Given the description of an element on the screen output the (x, y) to click on. 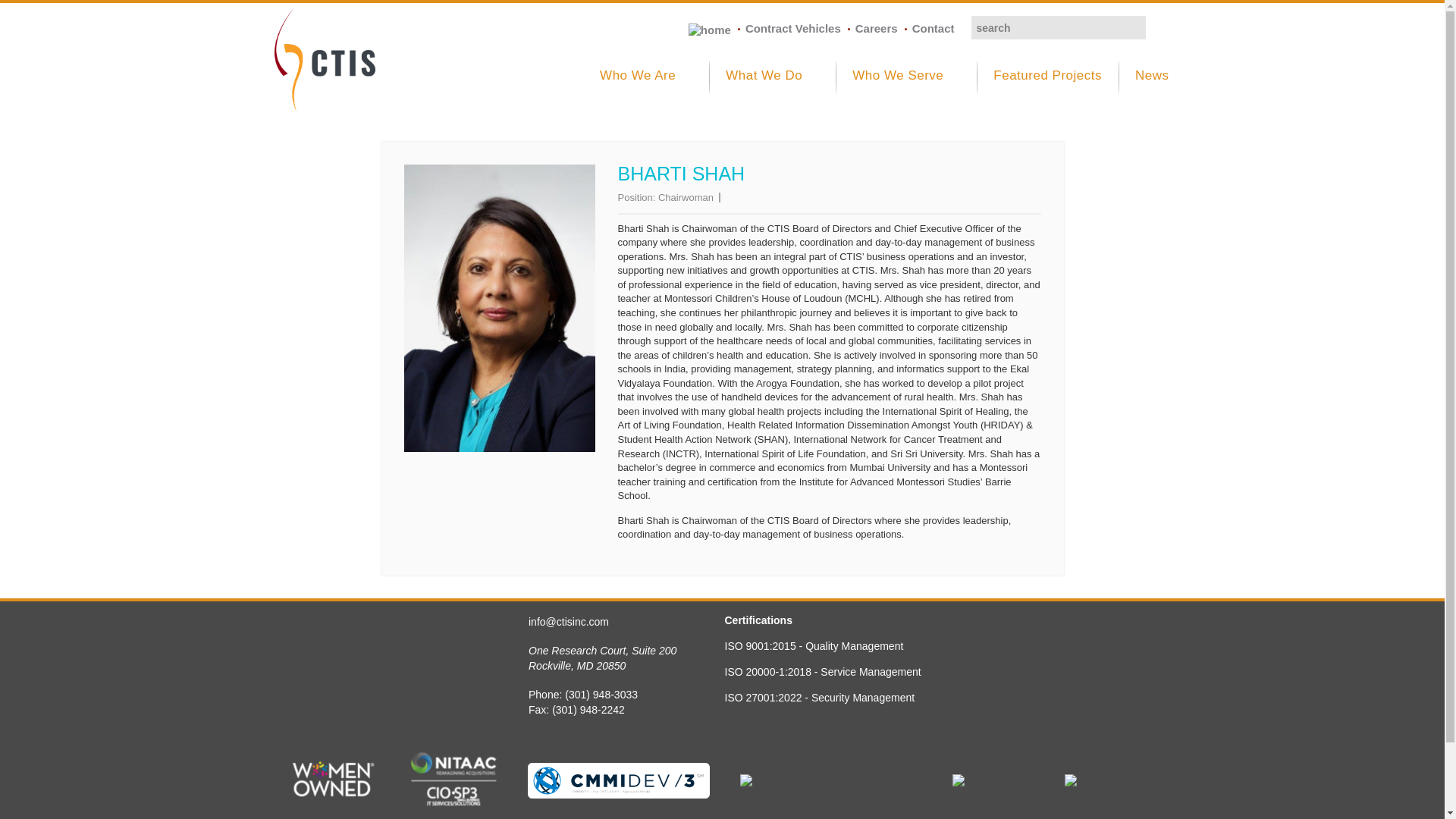
Careers (877, 28)
News (1146, 87)
Search (1156, 27)
Contract Vehicles (793, 28)
search (1057, 27)
Contact (933, 28)
Who We Serve (905, 87)
search (1057, 27)
Featured Projects (1047, 87)
Search (1156, 27)
